Given the description of an element on the screen output the (x, y) to click on. 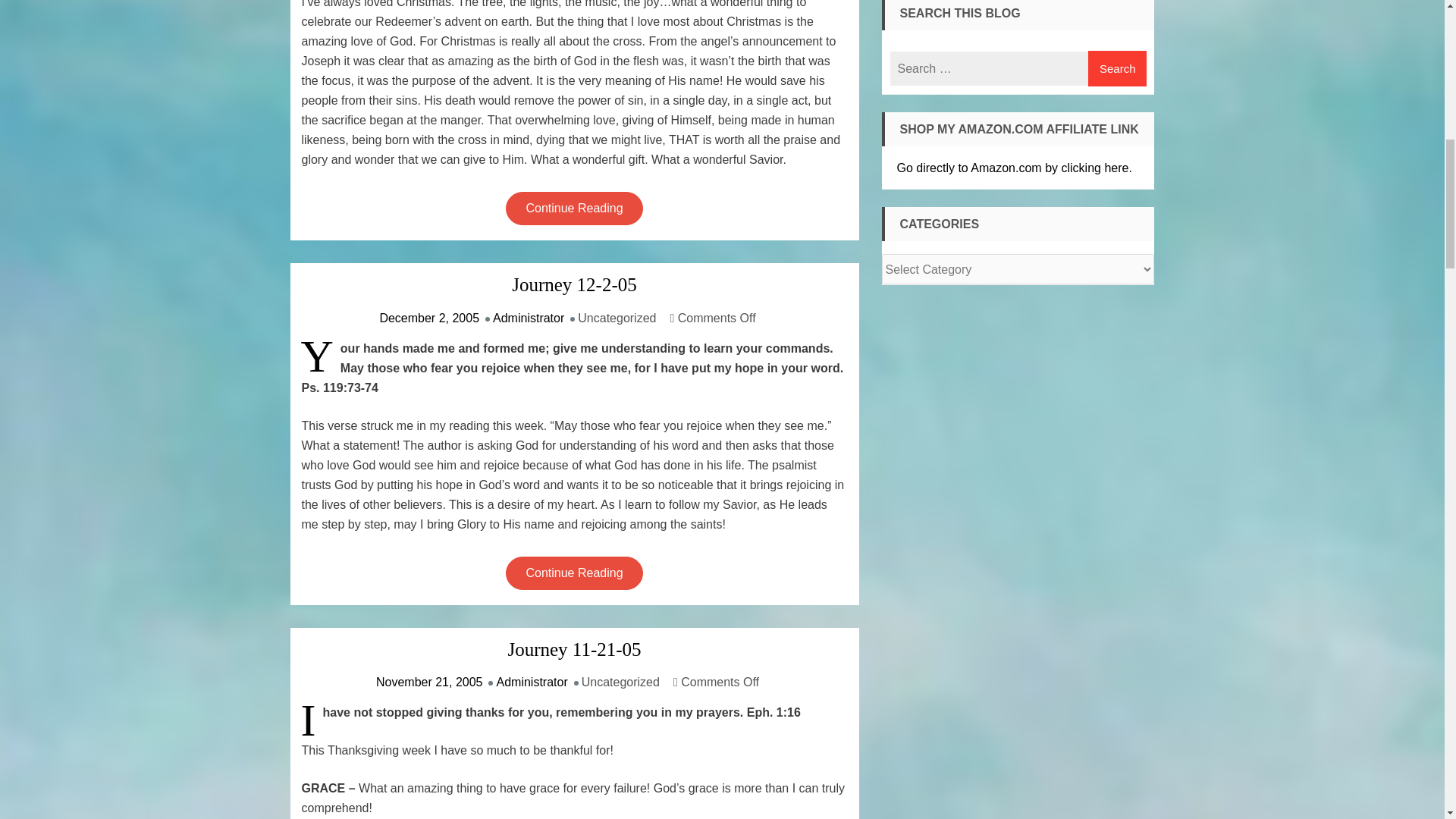
Continue Reading (573, 208)
Administrator (528, 317)
Continue Reading (573, 572)
Administrator (531, 681)
Journey 11-21-05 (574, 649)
Journey 12-2-05 (574, 284)
Search (1117, 68)
Search (1117, 68)
November 21, 2005 (429, 681)
December 2, 2005 (428, 317)
